Given the description of an element on the screen output the (x, y) to click on. 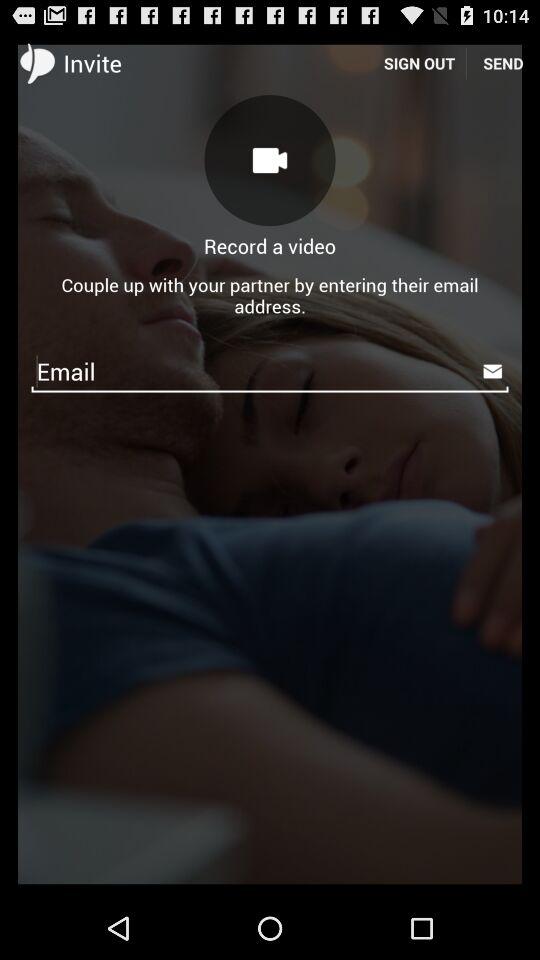
press the item above the couple up with icon (419, 62)
